Given the description of an element on the screen output the (x, y) to click on. 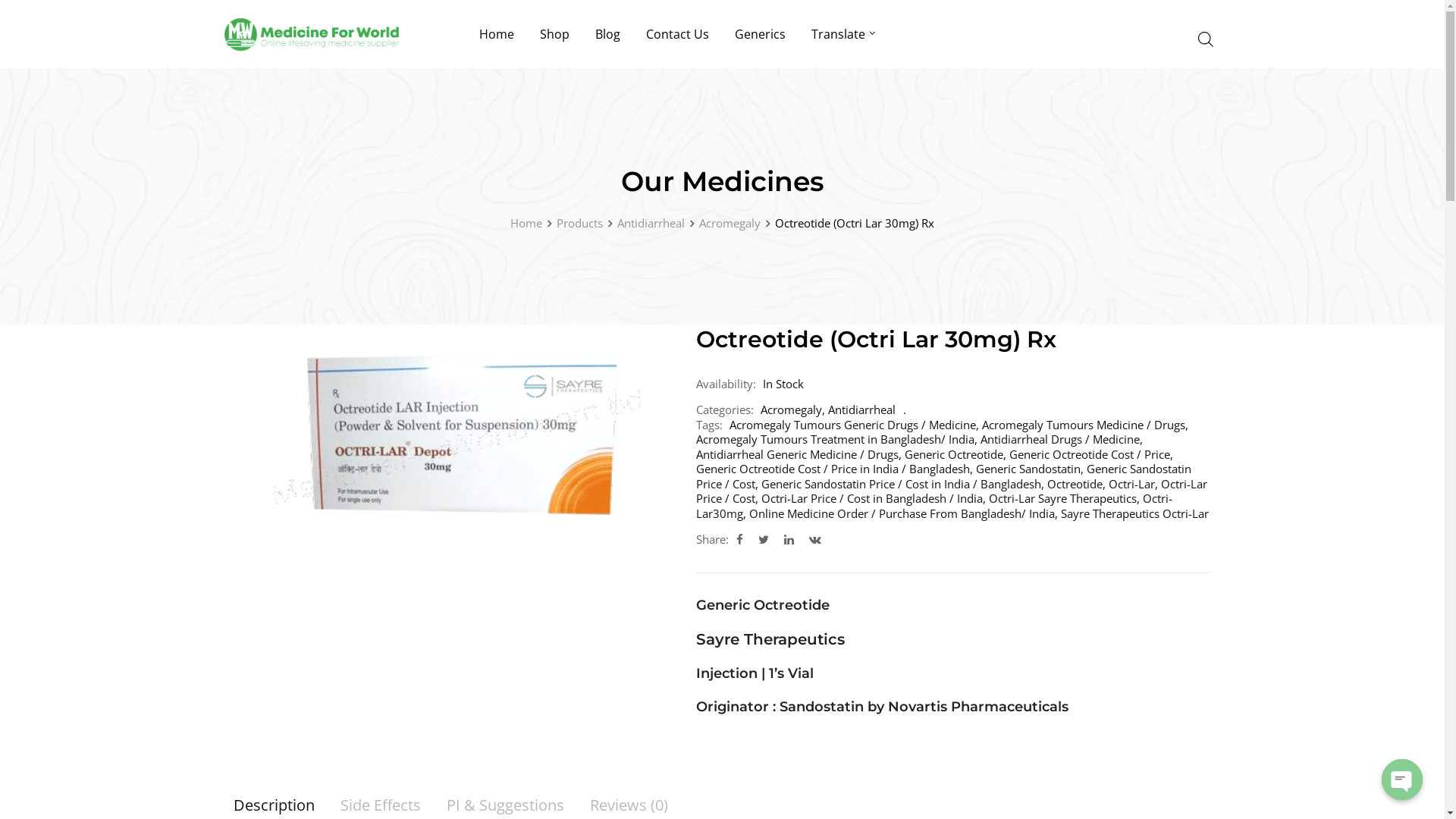
fa-facebook Element type: hover (738, 538)
Generic Sandostatin Element type: text (1027, 468)
Home Element type: text (526, 222)
Octri-Lar Price / Cost Element type: text (951, 491)
Antidiarrheal Drugs / Medicine Element type: text (1059, 438)
Octreotide Element type: text (1073, 483)
Octri-Lar Price / Cost in Bangladesh / India Element type: text (871, 497)
Generic Octreotide Cost / Price in India / Bangladesh Element type: text (832, 468)
Acromegaly Tumours Medicine / Drugs Element type: text (1082, 424)
Acromegaly Element type: text (790, 409)
Generic Octreotide Element type: text (952, 453)
Acromegaly Tumours Treatment in Bangladesh/ India Element type: text (835, 438)
Generic Sandostatin Price / Cost in India / Bangladesh Element type: text (901, 483)
Generic Sandostatin Price / Cost Element type: text (943, 476)
Sayre Therapeutics Octri-Lar Element type: text (1134, 512)
Online Medicine Order / Purchase From Bangladesh/ India Element type: text (901, 512)
Antidiarrheal Element type: text (650, 222)
Antidiarrheal Element type: text (861, 409)
fa-linkedin Element type: hover (788, 538)
Contact Us Element type: text (676, 34)
Octreotide (Octri-Lar 30mg)Octreotide (Octri-Lar 30mg) Element type: hover (449, 447)
fa-twitter Element type: hover (763, 538)
fa-vk Element type: hover (814, 538)
Acromegaly Tumours Generic Drugs / Medicine Element type: text (852, 424)
Products Element type: text (579, 222)
Shop Element type: text (553, 34)
Octri-Lar Element type: text (1131, 483)
Translate Element type: text (837, 34)
Octri-Lar30mg Element type: text (934, 505)
Generic Octreotide Cost / Price Element type: text (1088, 453)
Acromegaly Element type: text (729, 222)
Antidiarrheal Generic Medicine / Drugs Element type: text (797, 453)
Generics Element type: text (760, 34)
Blog Element type: text (607, 34)
Octri-Lar Sayre Therapeutics Element type: text (1062, 497)
Home Element type: text (495, 34)
